Given the description of an element on the screen output the (x, y) to click on. 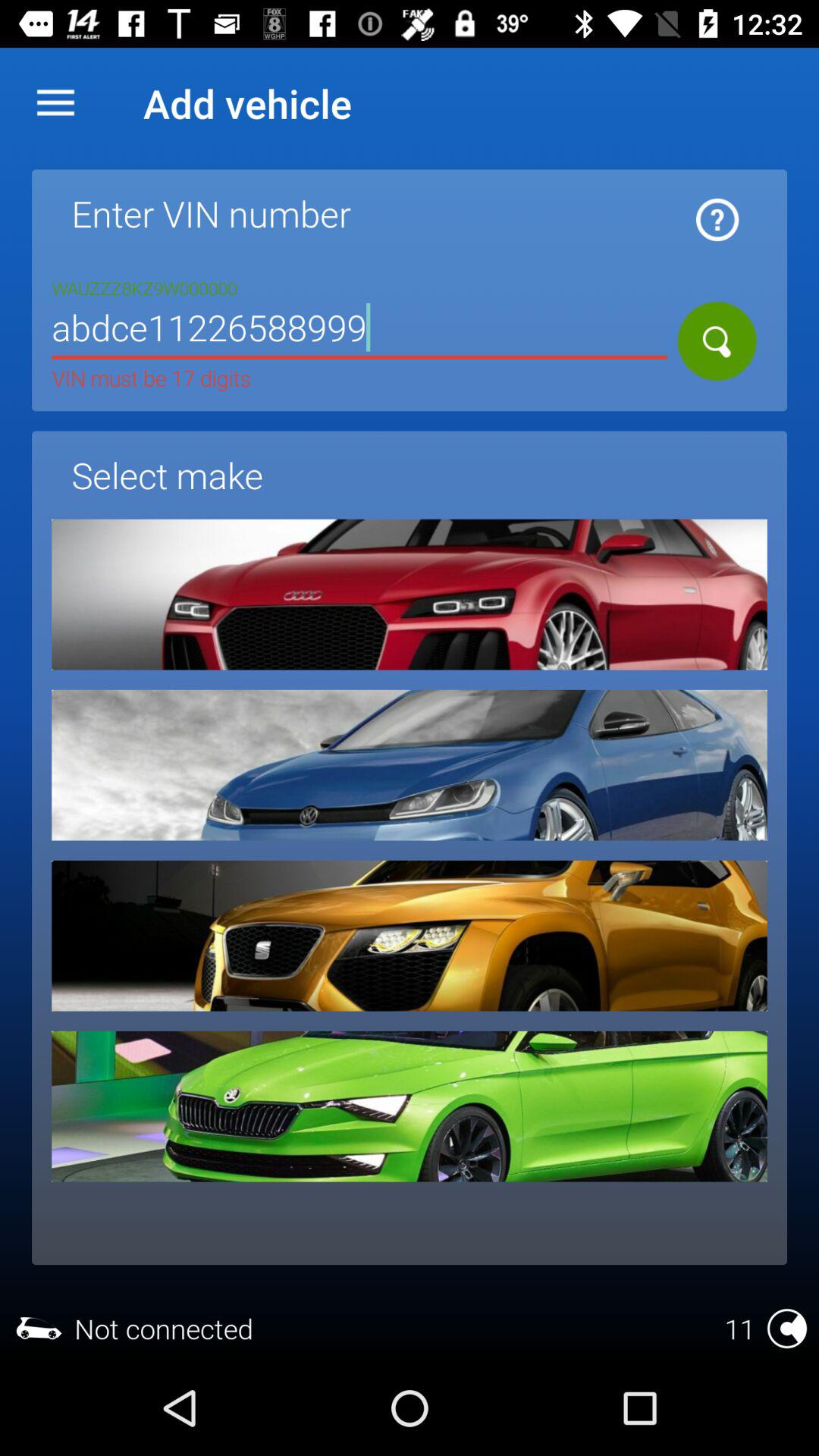
search (717, 341)
